Given the description of an element on the screen output the (x, y) to click on. 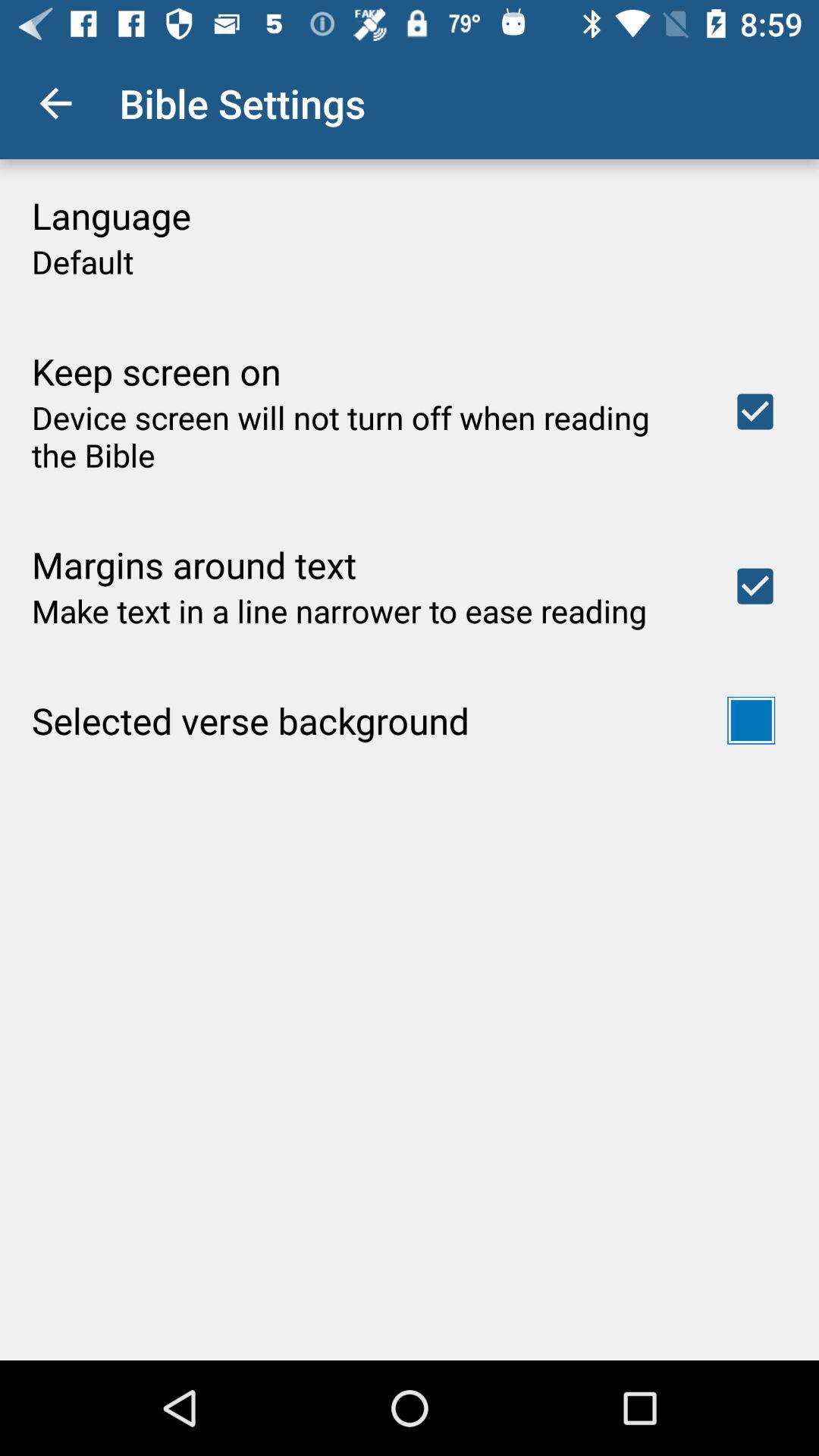
choose the icon to the left of bible settings item (55, 103)
